Given the description of an element on the screen output the (x, y) to click on. 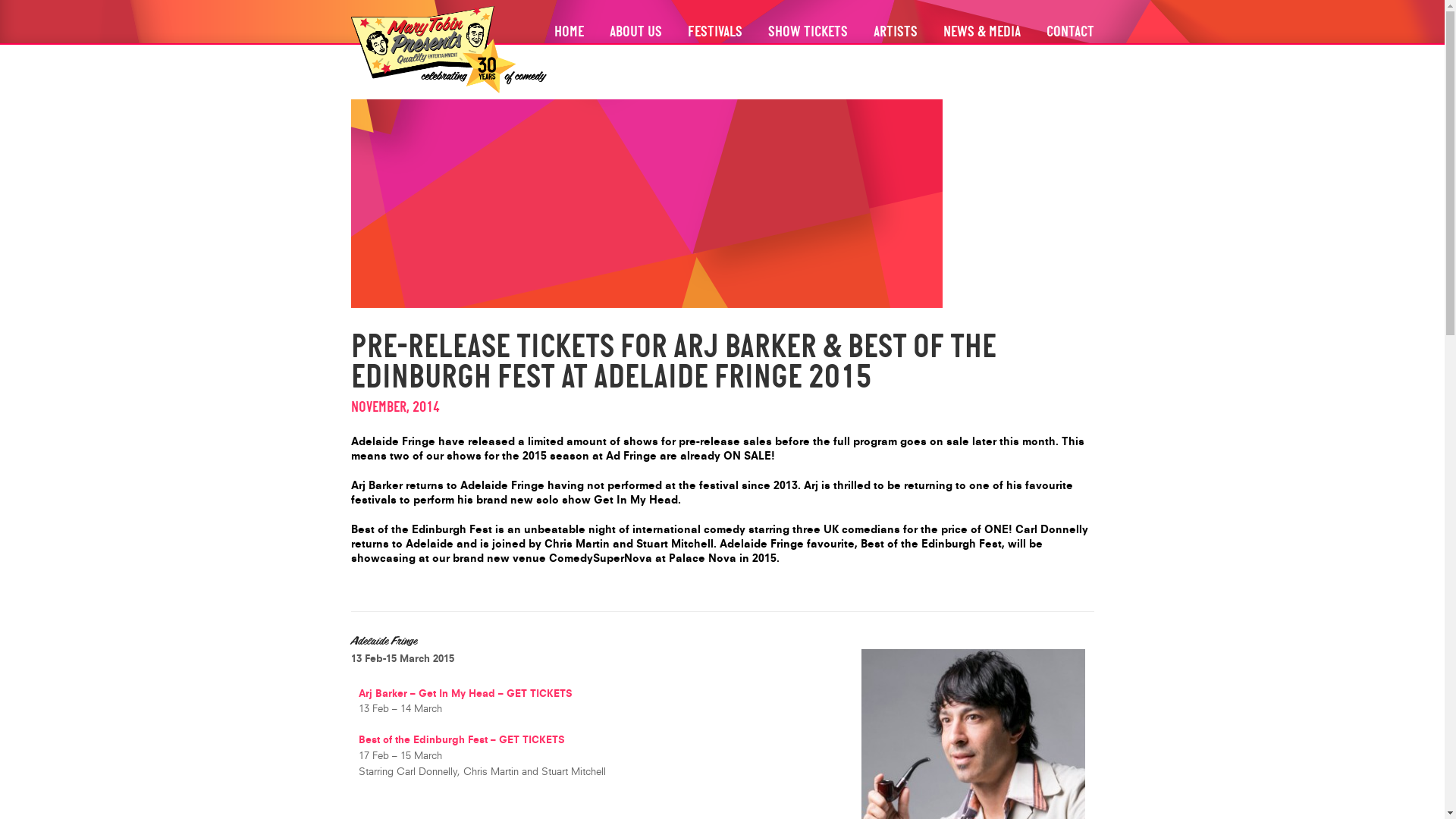
HOME Element type: text (568, 32)
ABOUT US Element type: text (634, 32)
post-generic_header1 Element type: hover (645, 203)
SHOW TICKETS Element type: text (807, 32)
NEWS & MEDIA Element type: text (981, 32)
CONTACT Element type: text (1069, 32)
ARTISTS Element type: text (894, 32)
FESTIVALS Element type: text (714, 32)
